Given the description of an element on the screen output the (x, y) to click on. 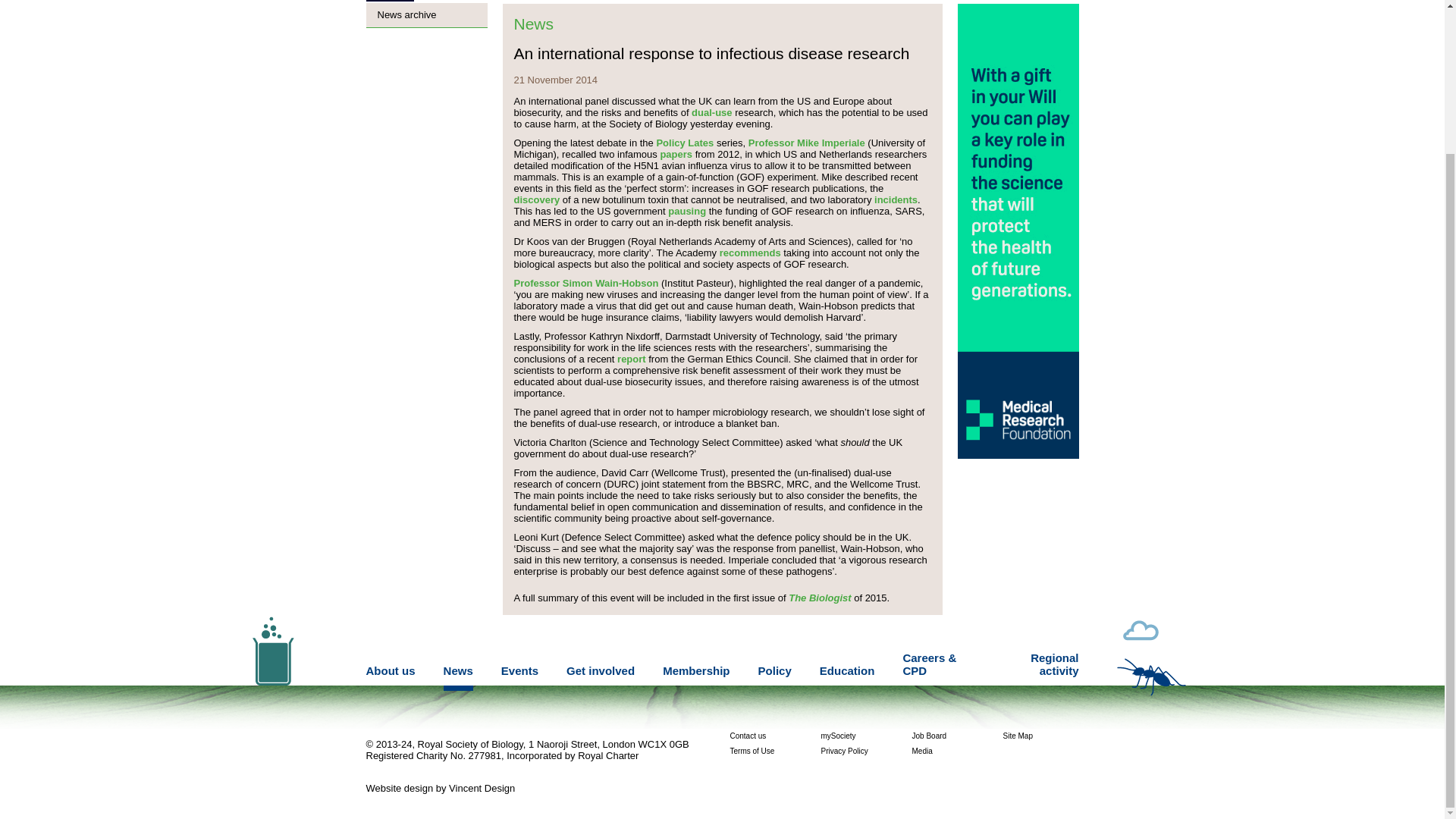
MRF Advert  (1017, 455)
